Given the description of an element on the screen output the (x, y) to click on. 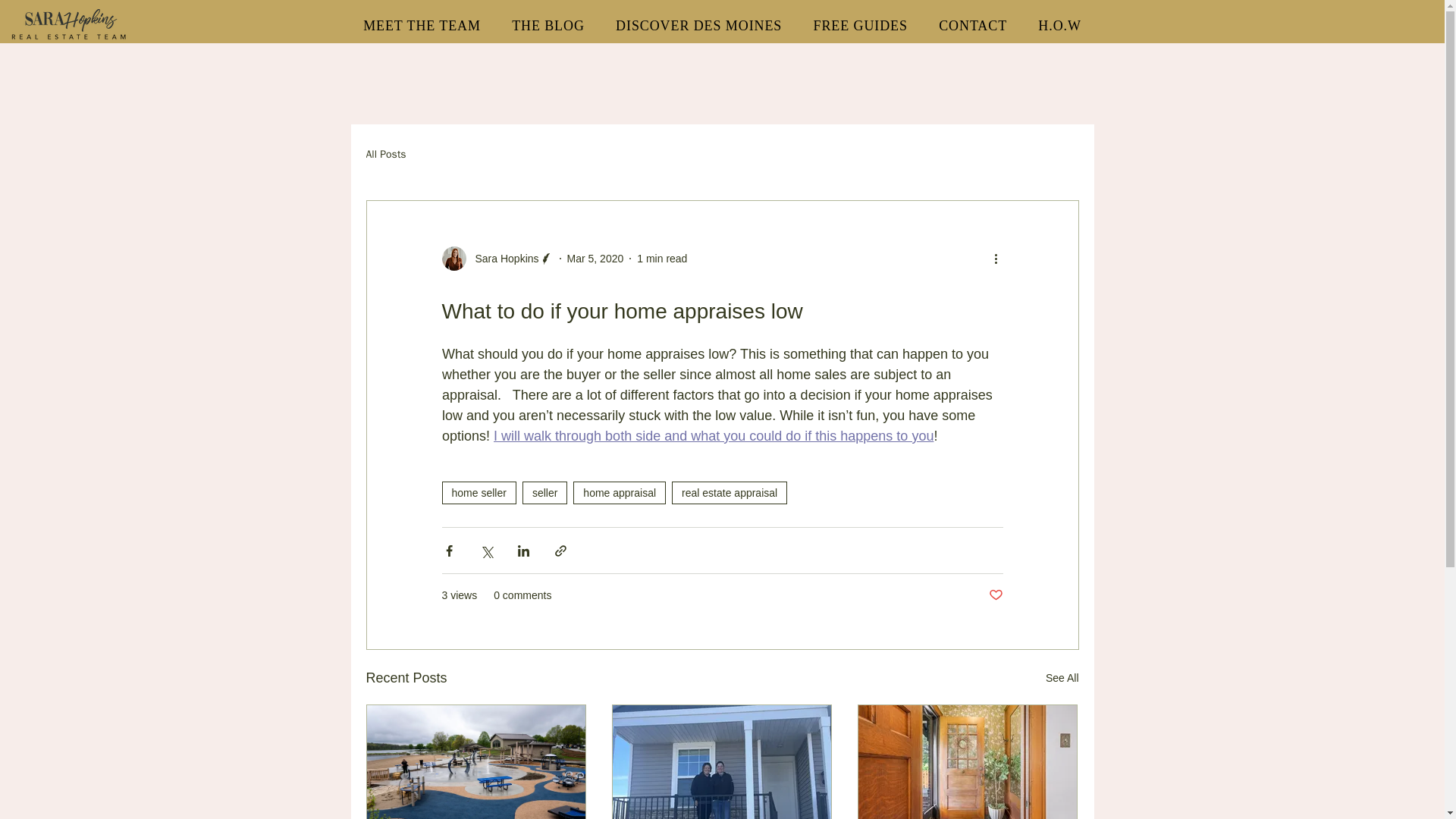
MEET THE TEAM (421, 25)
All Posts (385, 154)
Post not marked as liked (995, 595)
1 min read (662, 257)
seller (544, 492)
Sara Hopkins (501, 258)
home appraisal (619, 492)
real estate appraisal (729, 492)
See All (1061, 678)
home seller (478, 492)
DISCOVER DES MOINES (697, 25)
Mar 5, 2020 (595, 257)
FREE GUIDES (860, 25)
H.O.W (1060, 25)
